Given the description of an element on the screen output the (x, y) to click on. 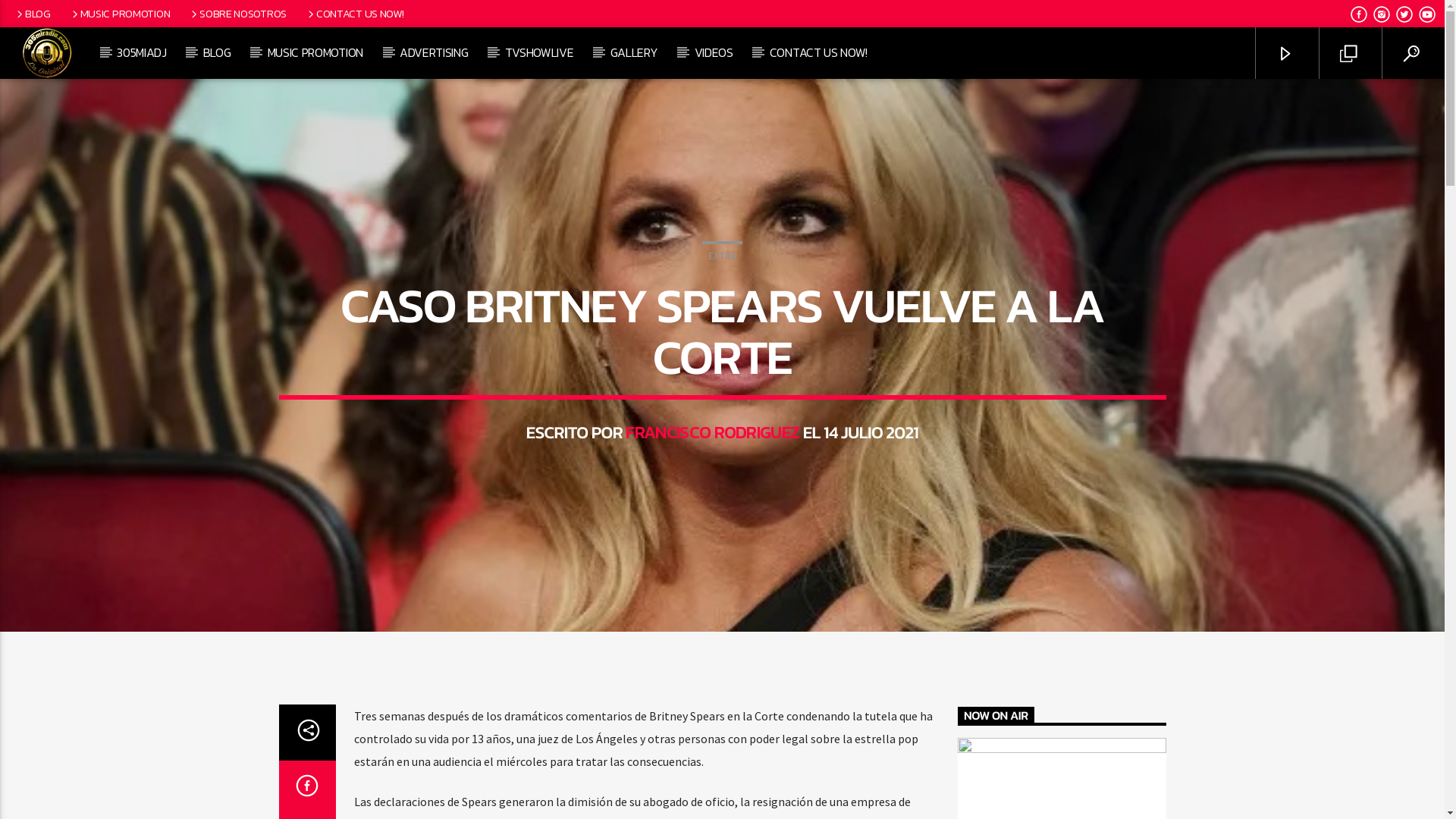
TVSHOWLIVE Element type: text (538, 52)
GALLERY Element type: text (633, 52)
CONTACT US NOW! Element type: text (354, 13)
VIDEOS Element type: text (713, 52)
ADVERTISING Element type: text (433, 52)
EXTRA Element type: text (722, 254)
BLOG Element type: text (216, 52)
MUSIC PROMOTION Element type: text (119, 13)
CONTACT US NOW! Element type: text (818, 52)
BLOG Element type: text (32, 13)
MUSIC PROMOTION Element type: text (314, 52)
FRANCISCO RODRIGUEZ Element type: text (712, 432)
SOBRE NOSOTROS Element type: text (237, 13)
305MIADJ Element type: text (141, 52)
Buscar Element type: text (1203, 102)
